Given the description of an element on the screen output the (x, y) to click on. 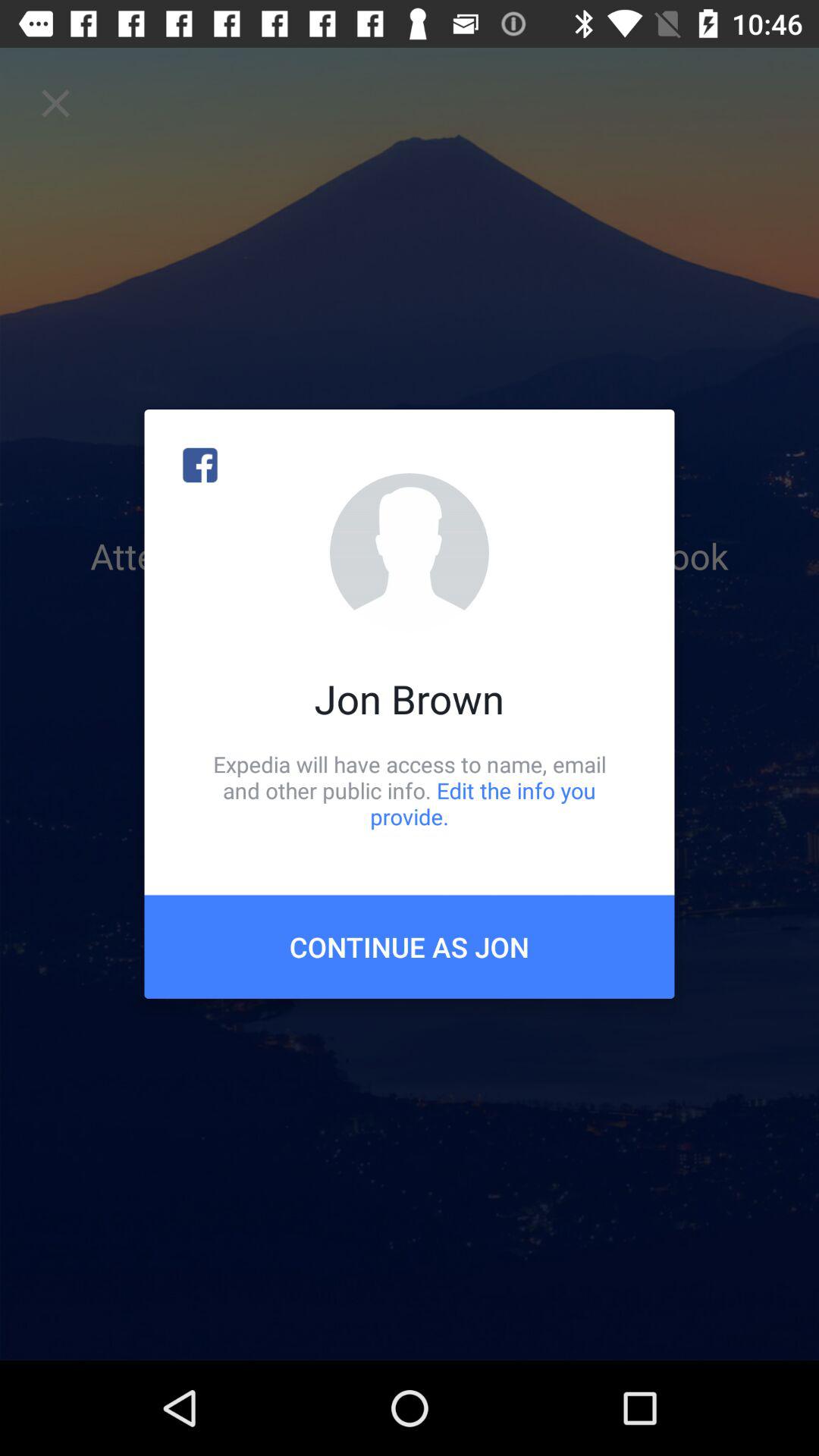
open icon below the jon brown icon (409, 790)
